Given the description of an element on the screen output the (x, y) to click on. 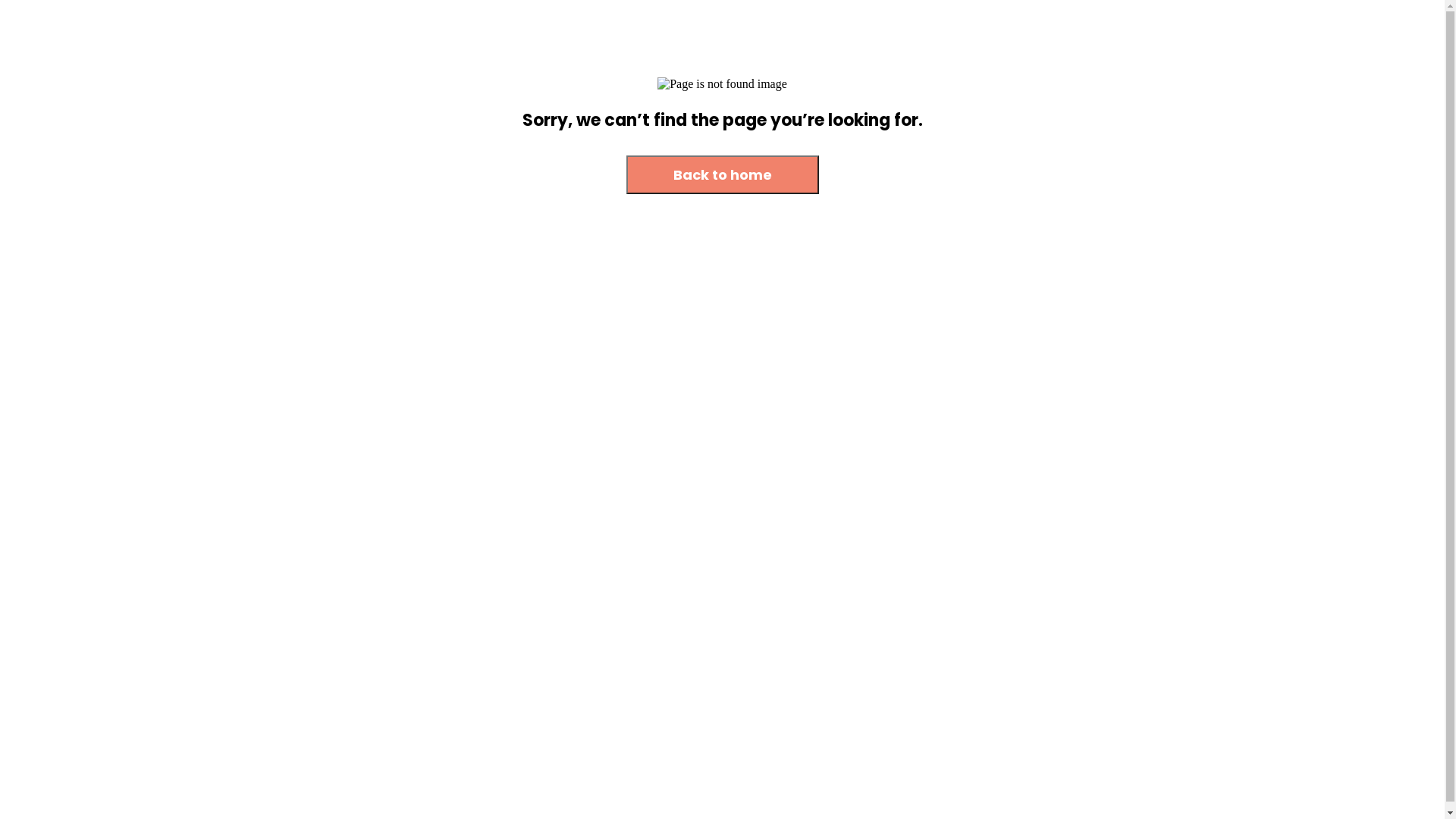
Back to home Element type: text (722, 174)
Back to home Element type: text (722, 175)
